Given the description of an element on the screen output the (x, y) to click on. 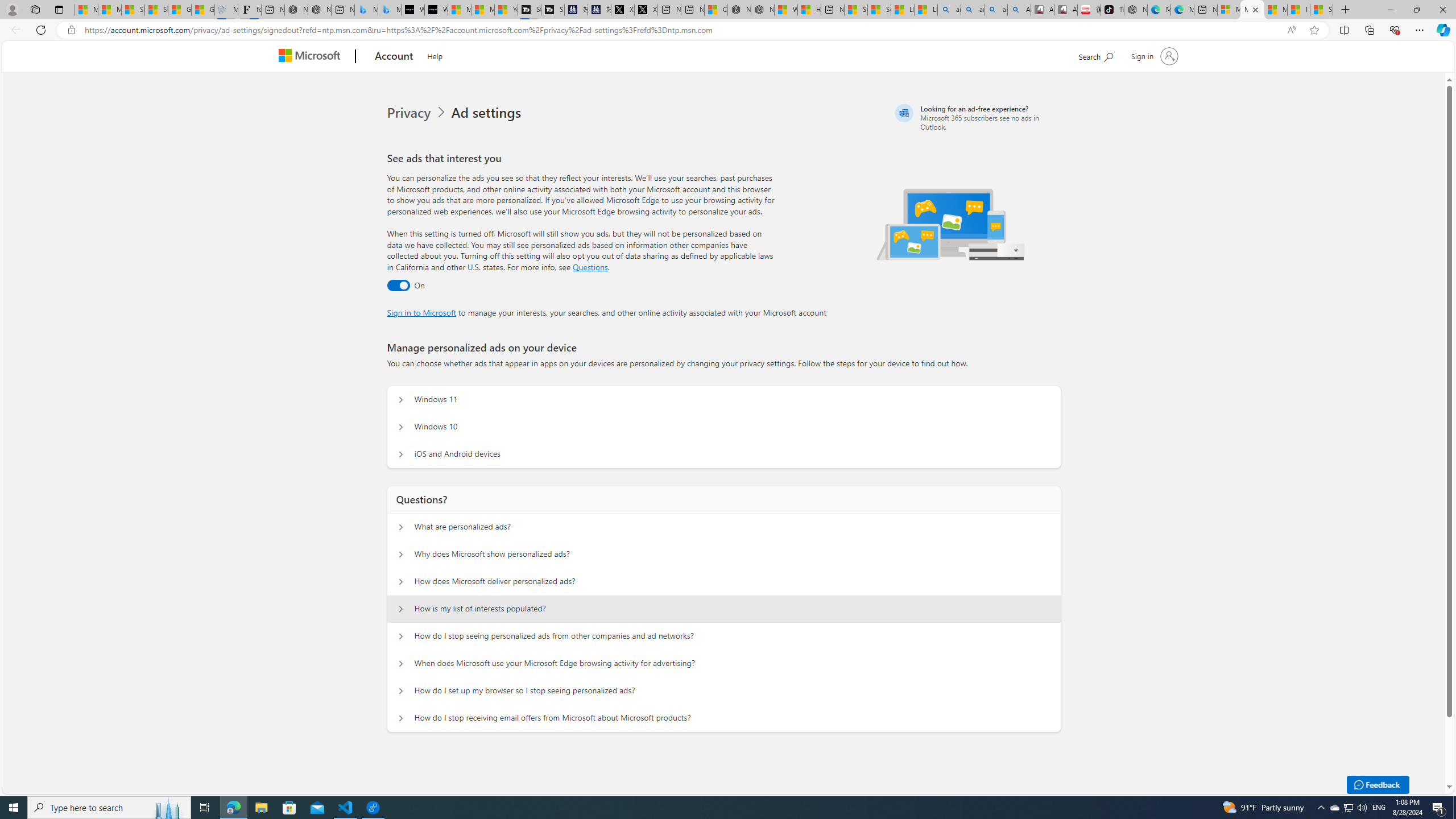
Huge shark washes ashore at New York City beach | Watch (809, 9)
